Given the description of an element on the screen output the (x, y) to click on. 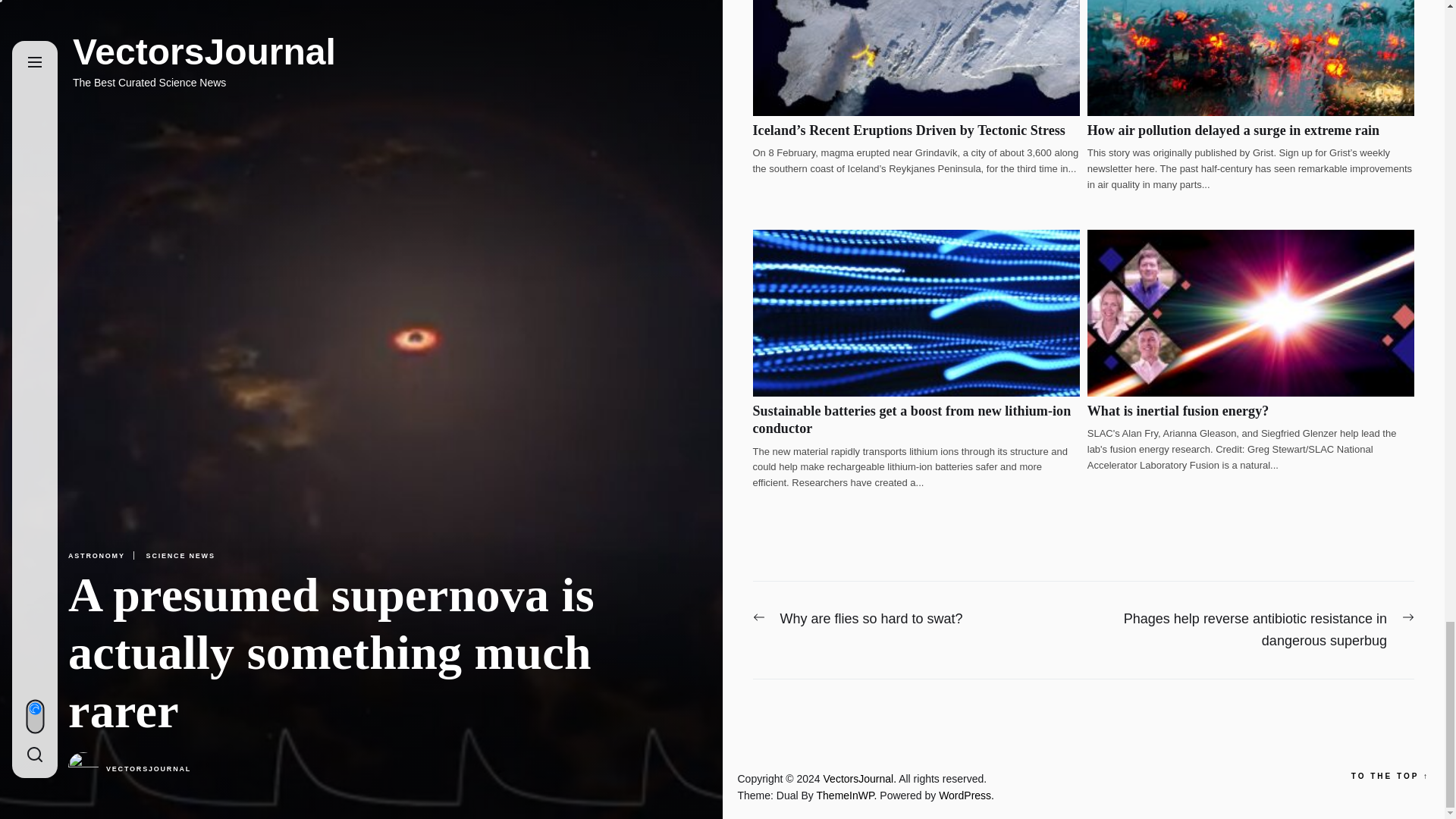
WordPress (966, 795)
ThemeInWP (848, 795)
VectorsJournal (861, 778)
What is inertial fusion energy? (1178, 410)
How air pollution delayed a surge in extreme rain (1232, 130)
